Given the description of an element on the screen output the (x, y) to click on. 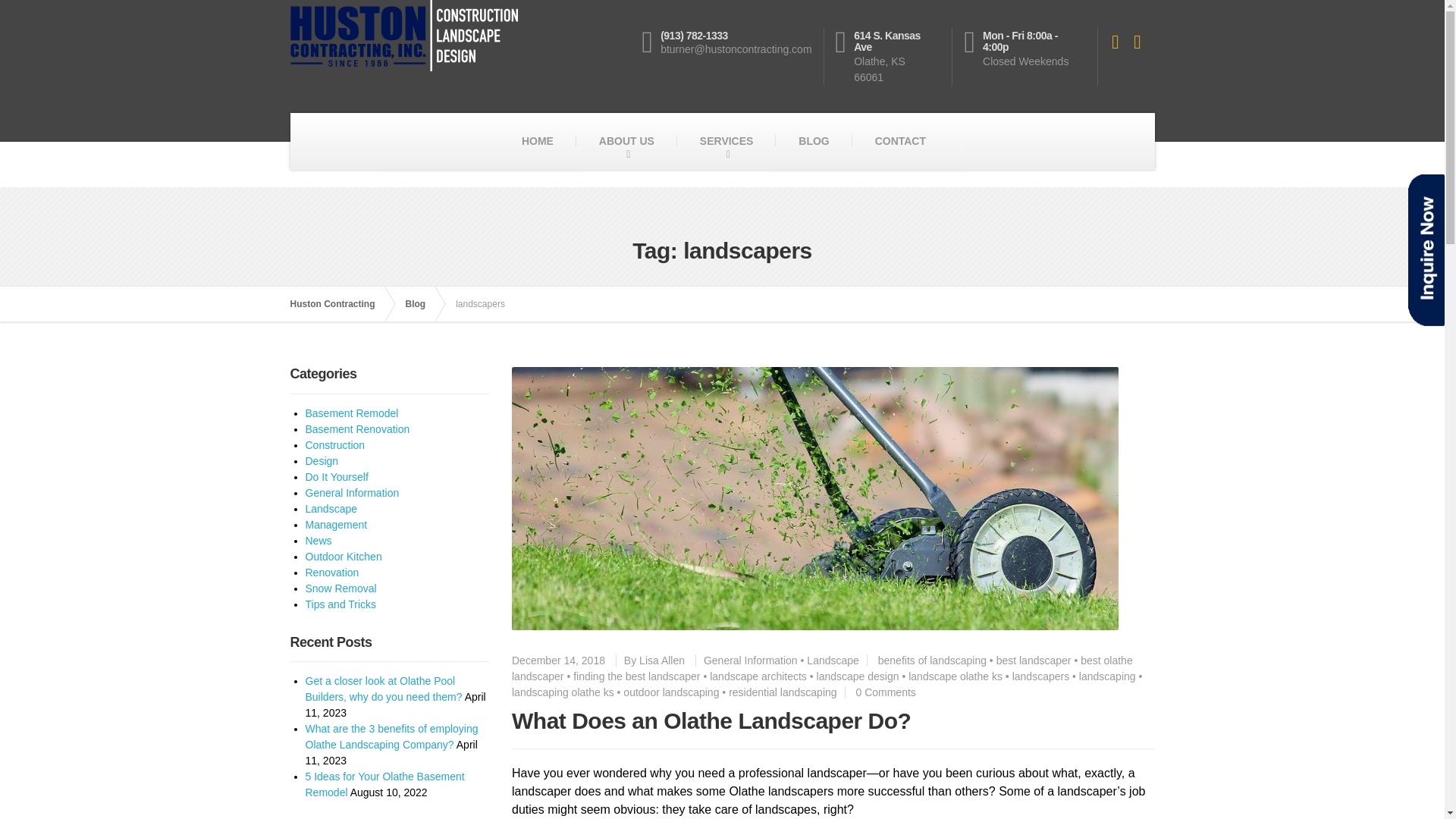
finding the best landscaper (636, 676)
HOME (537, 141)
General Information (750, 660)
SERVICES (726, 141)
landscape architects (758, 676)
landscape design (857, 676)
ABOUT US (626, 141)
benefits of landscaping (932, 660)
Huston Contracting (339, 303)
BLOG (813, 141)
best landscaper (1033, 660)
Landscape (832, 660)
best olathe landscaper (822, 668)
Go to Huston Contracting. (339, 303)
Go to Blog. (422, 303)
